Given the description of an element on the screen output the (x, y) to click on. 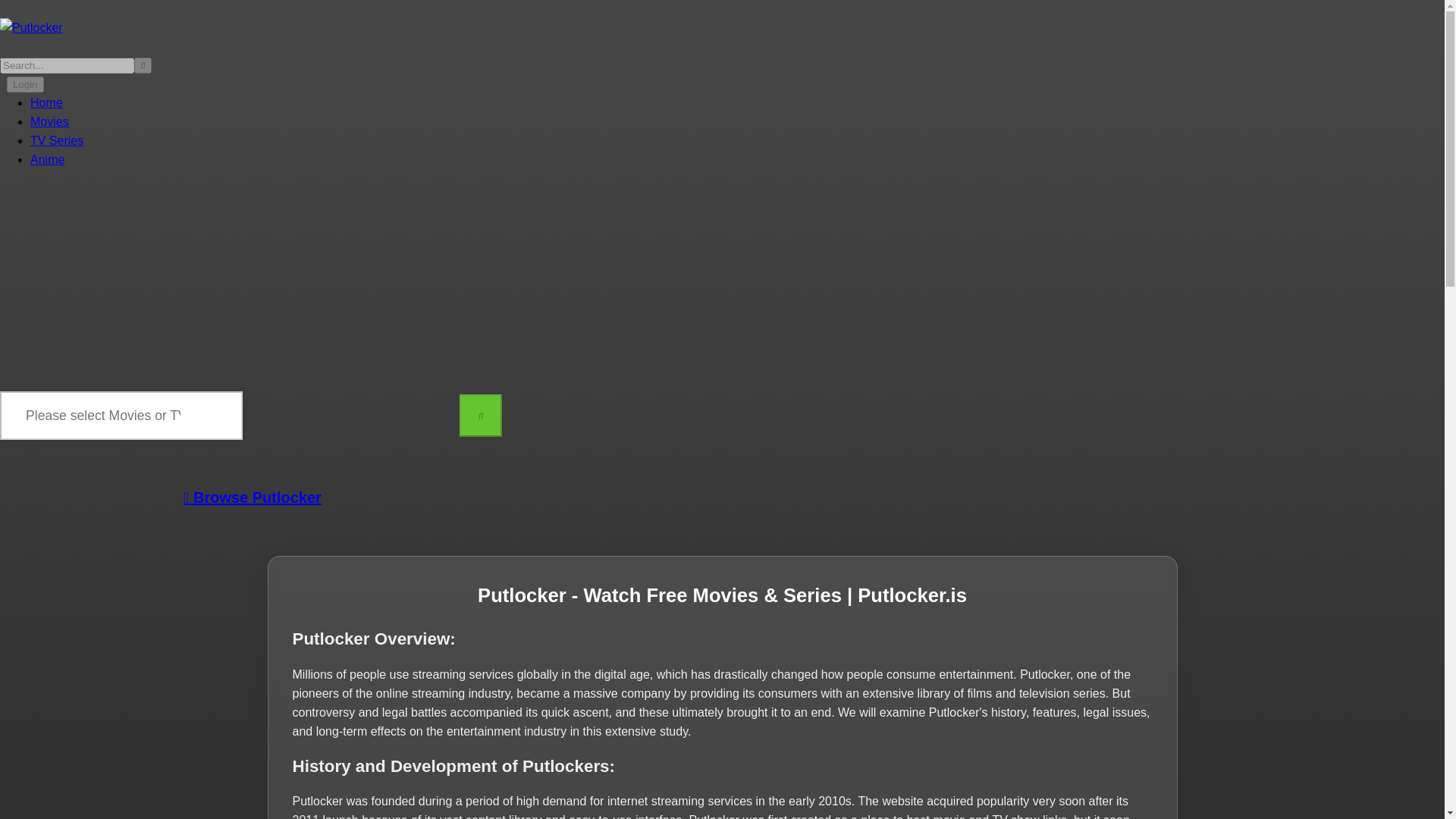
Movies (49, 121)
TV Series (56, 140)
Home (46, 102)
 Browse Putlocker (252, 497)
Search (142, 65)
Login (25, 84)
Anime (47, 159)
